Given the description of an element on the screen output the (x, y) to click on. 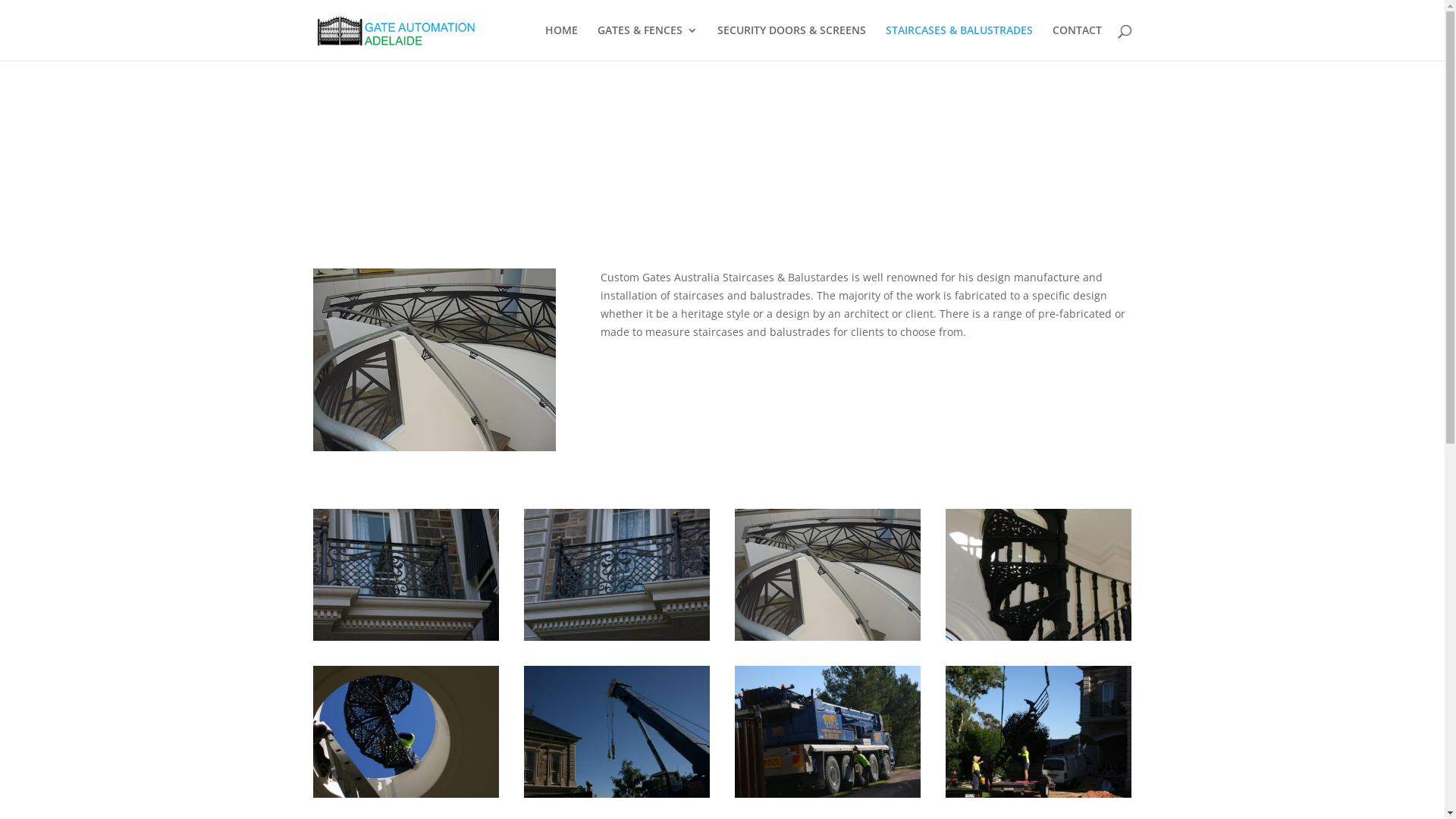
a-crane-lifting-an-internal-spiral-staircase Element type: hover (1038, 793)
GATES & FENCES Element type: text (647, 42)
HOME Element type: text (560, 42)
SECURITY DOORS & SCREENS Element type: text (791, 42)
p1100158 Element type: hover (827, 636)
CONTACT Element type: text (1076, 42)
STAIRCASES & BALUSTRADES Element type: text (958, 42)
